Given the description of an element on the screen output the (x, y) to click on. 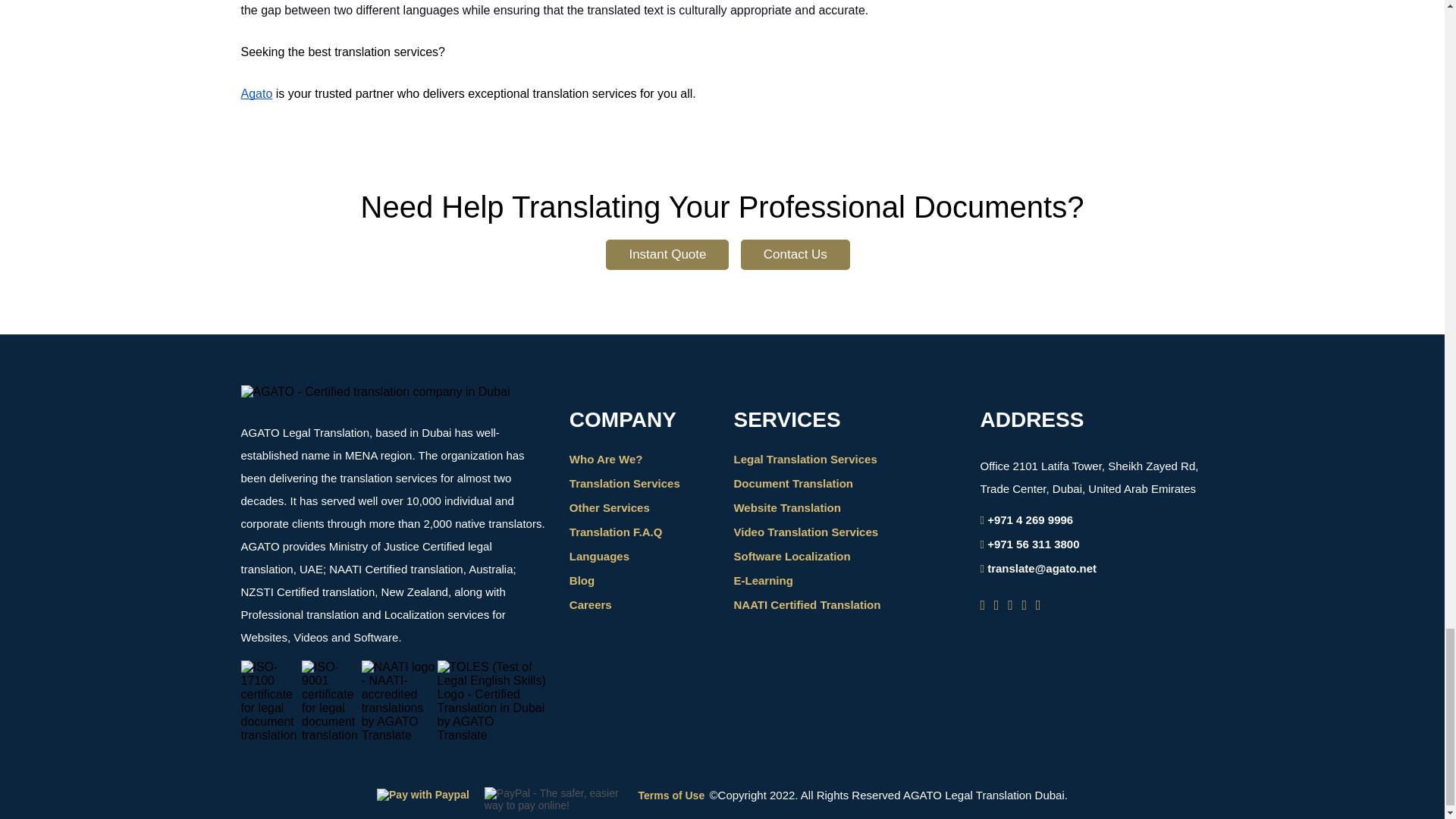
Translation Services (624, 482)
Careers (590, 604)
Contact Us (795, 254)
Instant Quote (667, 254)
Website Translation (786, 507)
Languages (598, 555)
Other Services (609, 507)
Document Translation (793, 482)
Who Are We? (606, 459)
Legal Translation Services (804, 459)
Video Translation Services (805, 531)
Agato (257, 92)
Blog (581, 580)
Translation F.A.Q (615, 531)
